Given the description of an element on the screen output the (x, y) to click on. 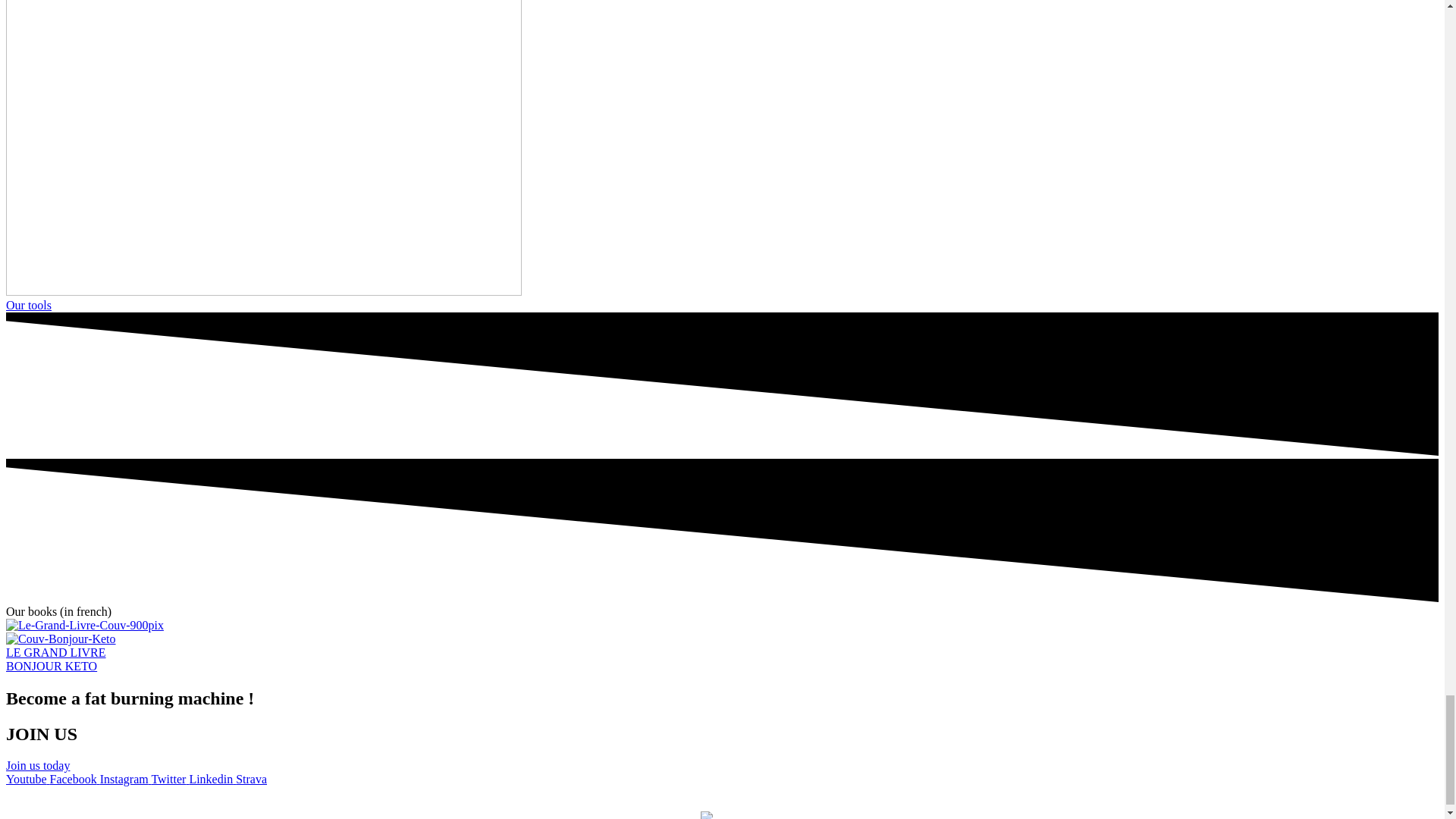
BONJOUR KETO (51, 666)
Our tools (27, 305)
Linkedin (212, 779)
Join us today (37, 765)
Couv-Bonjour-Keto (60, 639)
Youtube (27, 779)
Instagram (125, 779)
Le-Grand-Livre-Couv-900pix (84, 625)
LE GRAND LIVRE (55, 652)
Facebook (74, 779)
